Given the description of an element on the screen output the (x, y) to click on. 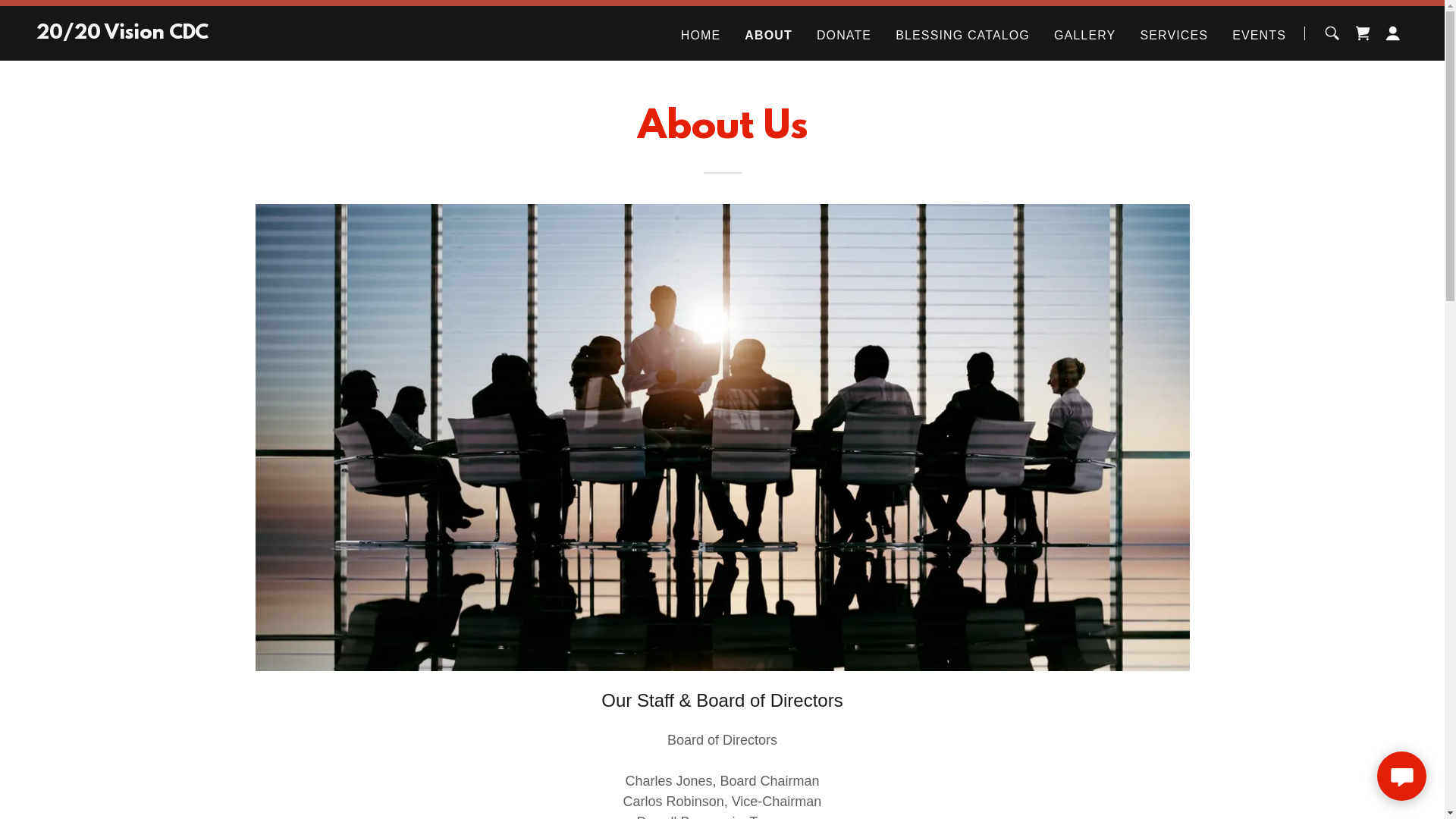
GALLERY Element type: text (1084, 34)
EVENTS Element type: text (1258, 34)
ABOUT Element type: text (768, 34)
SERVICES Element type: text (1173, 34)
BLESSING CATALOG Element type: text (962, 34)
20/20 Vision CDC Element type: text (122, 33)
HOME Element type: text (700, 34)
DONATE Element type: text (843, 34)
